Given the description of an element on the screen output the (x, y) to click on. 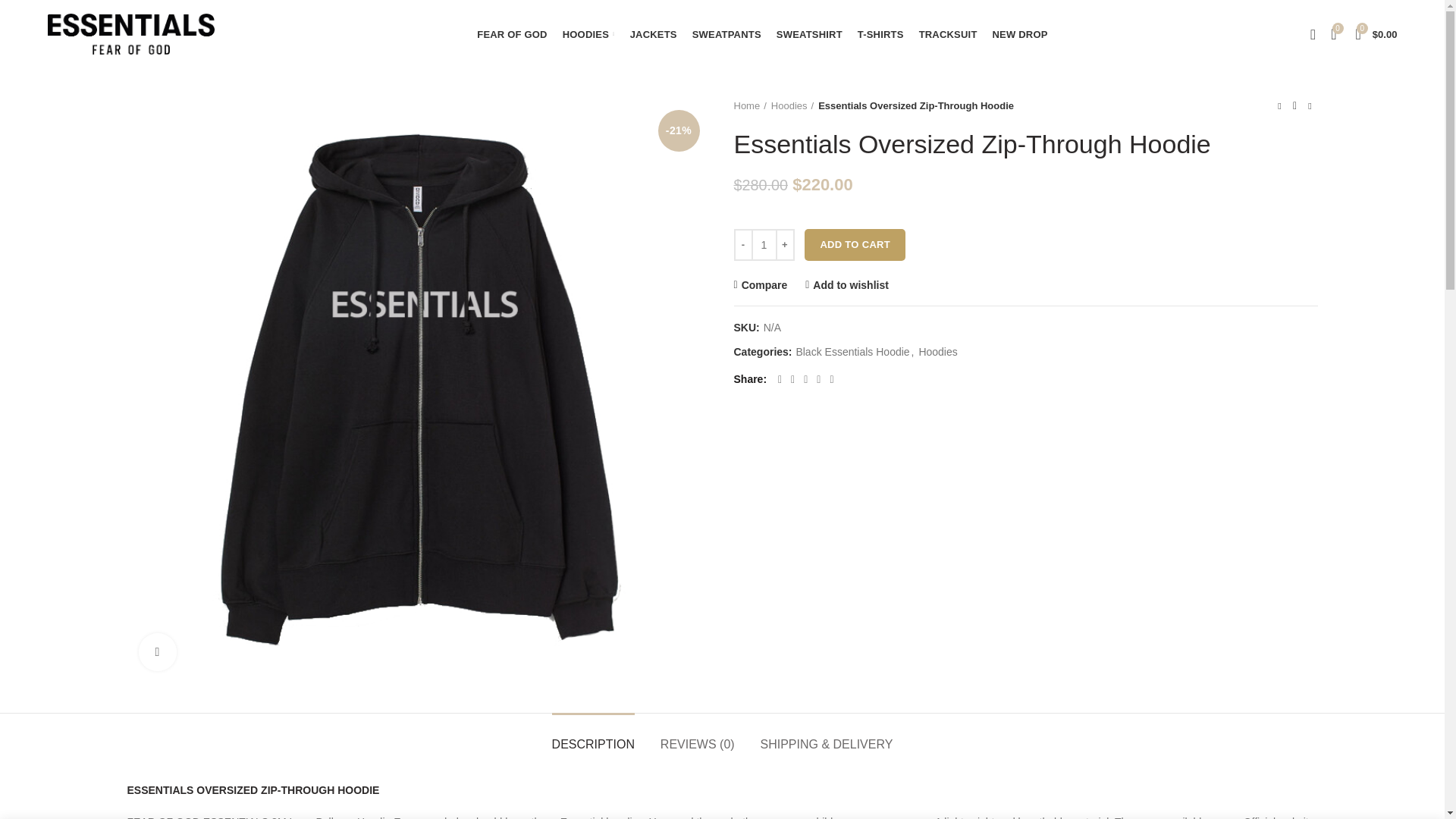
Shopping cart (1376, 33)
FEAR OF GOD (511, 33)
Hoodies (792, 106)
HOODIES (588, 33)
ADD TO CART (855, 245)
TRACKSUIT (948, 33)
SWEATPANTS (726, 33)
Home (750, 106)
JACKETS (653, 33)
Previous product (1279, 105)
SWEATSHIRT (809, 33)
T-SHIRTS (880, 33)
Next product (1310, 105)
NEW DROP (1020, 33)
